Given the description of an element on the screen output the (x, y) to click on. 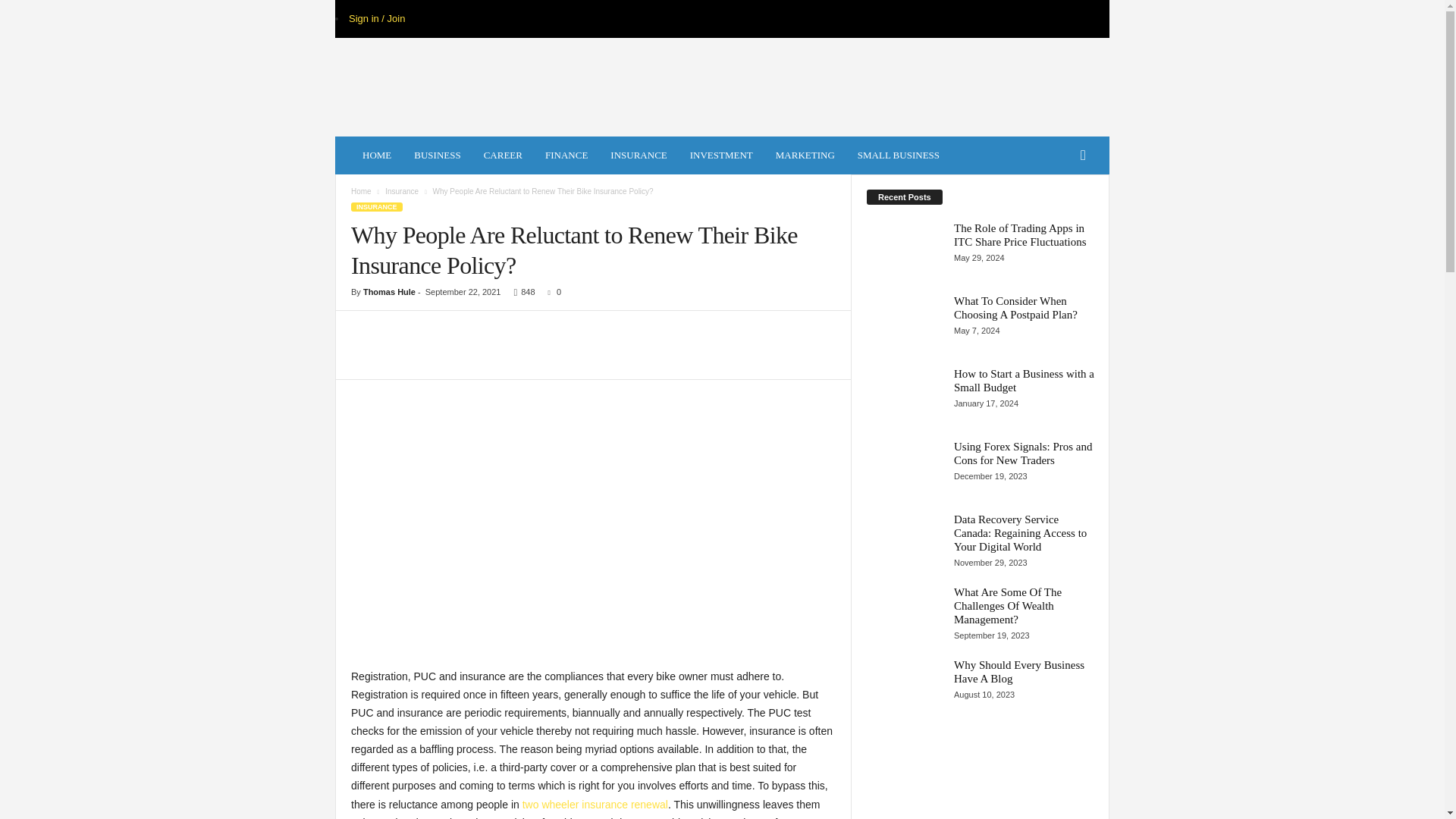
Thomas Hule (388, 291)
two wheeler insurance renewal (595, 804)
SMALL BUSINESS (897, 155)
0 (550, 291)
HOME (376, 155)
Insurance (402, 191)
BUSINESS (437, 155)
INVESTMENT (721, 155)
Home (360, 191)
INSURANCE (638, 155)
View all posts in Insurance (402, 191)
MARKETING (804, 155)
INSURANCE (376, 206)
FINANCE (566, 155)
CAREER (502, 155)
